Given the description of an element on the screen output the (x, y) to click on. 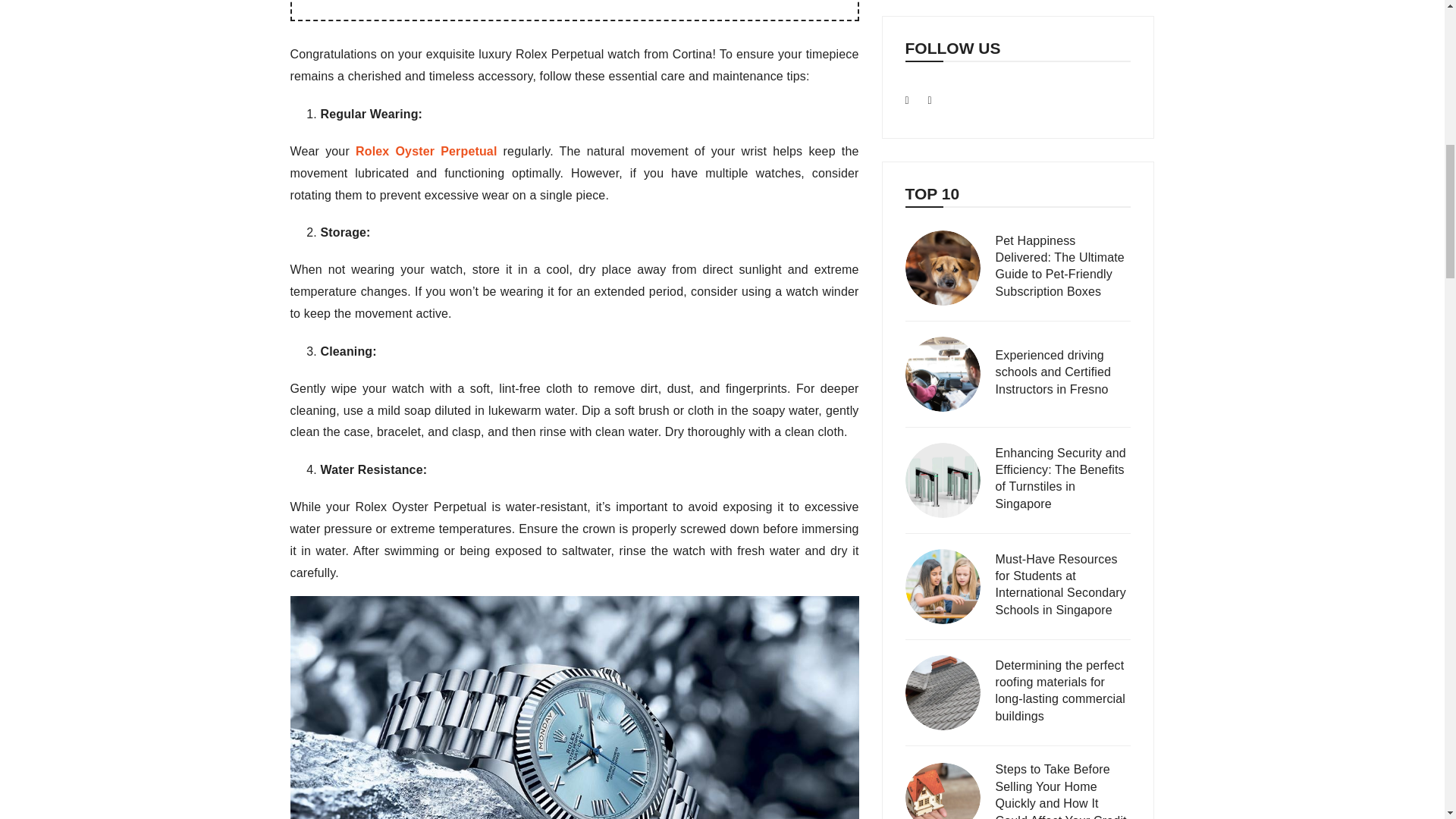
Rolex Oyster Perpetual (425, 151)
